Given the description of an element on the screen output the (x, y) to click on. 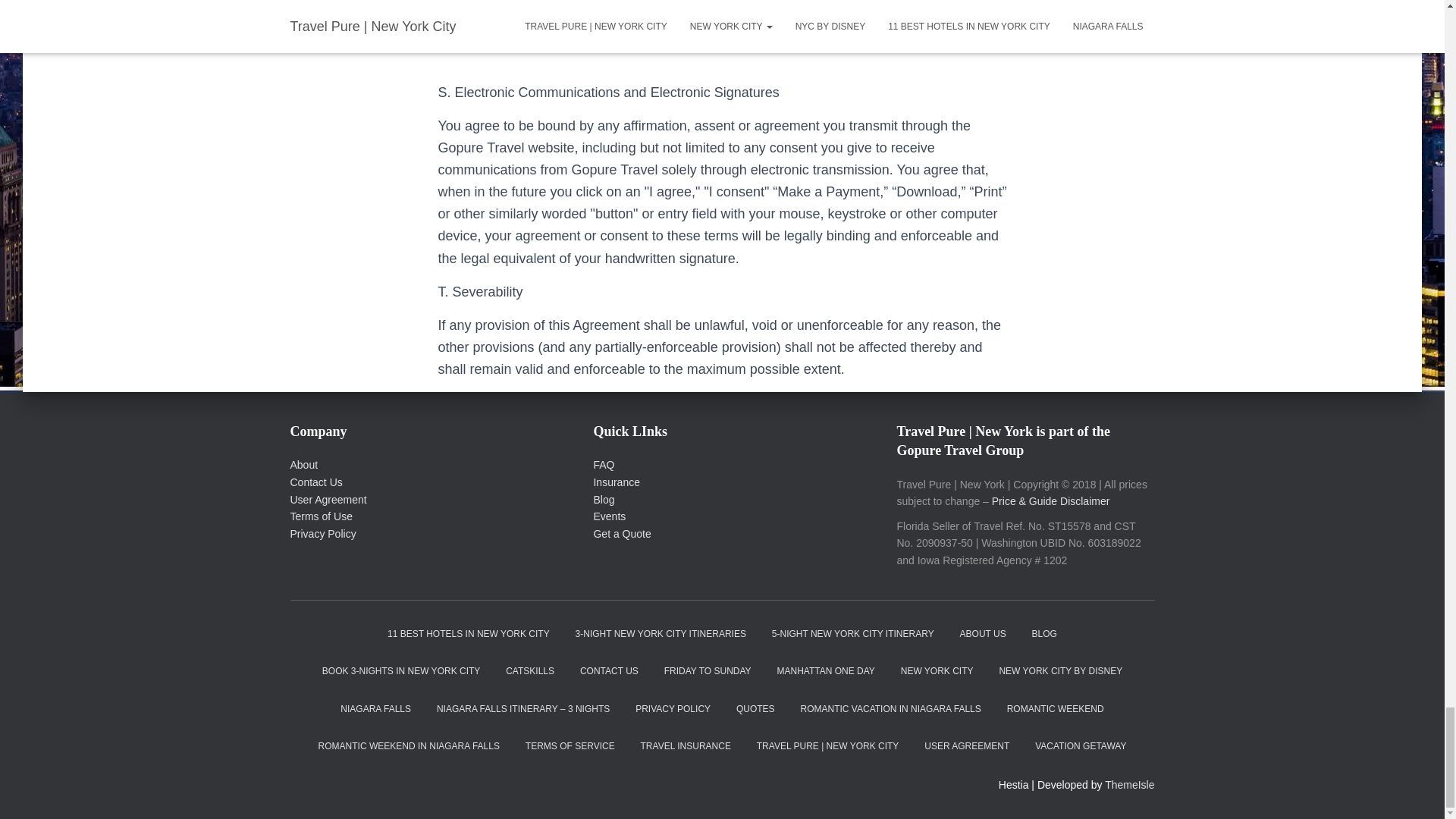
Terms of Use (320, 516)
NEW YORK CITY (937, 671)
NIAGARA FALLS (375, 709)
Contact Us (315, 481)
NEW YORK CITY BY DISNEY (1060, 671)
CATSKILLS (530, 671)
Get a Quote (621, 533)
Call with Google Voice (484, 25)
BOOK 3-NIGHTS IN NEW YORK CITY (401, 671)
CONTACT US (609, 671)
